Given the description of an element on the screen output the (x, y) to click on. 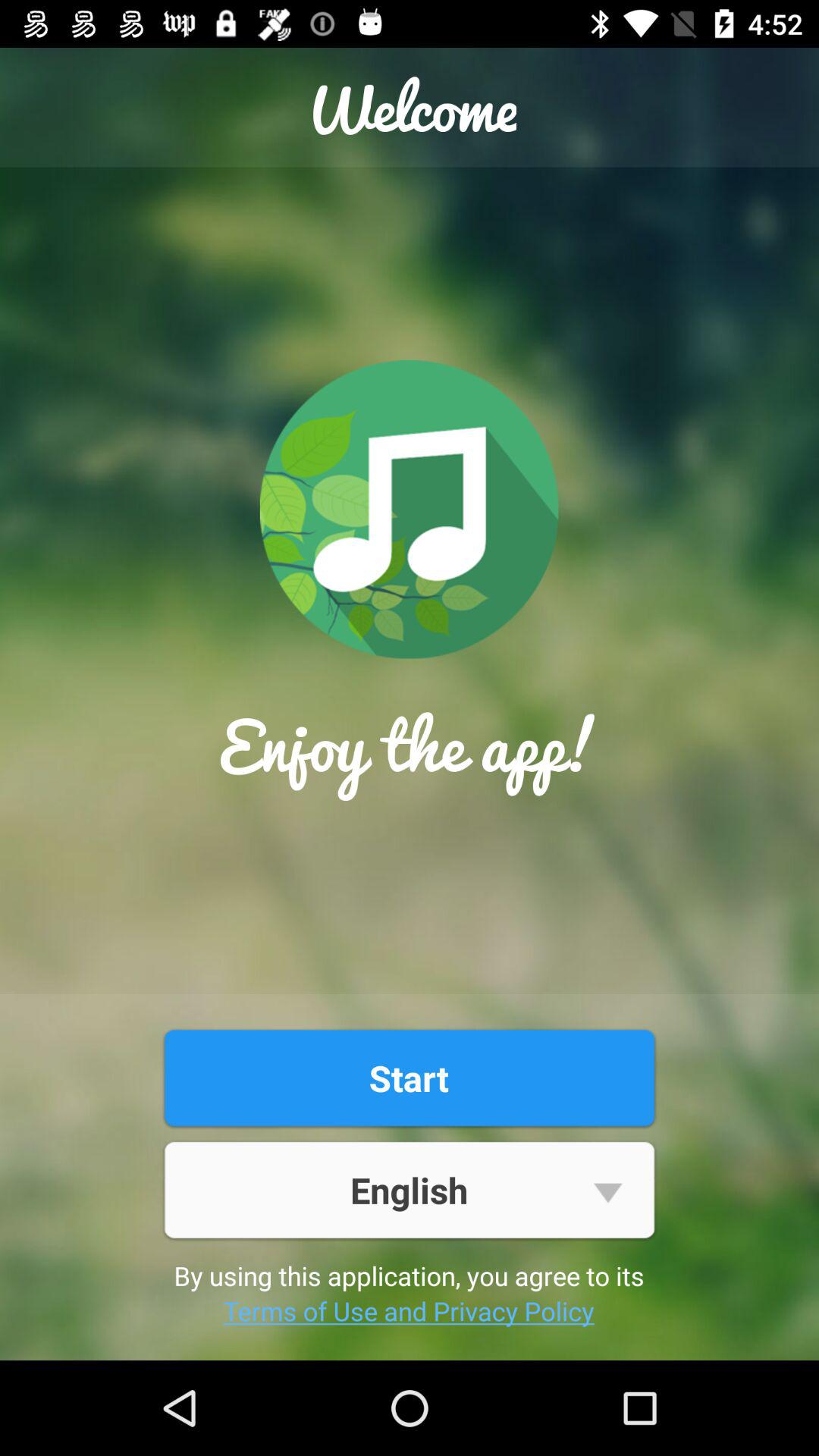
launch start (409, 1078)
